Given the description of an element on the screen output the (x, y) to click on. 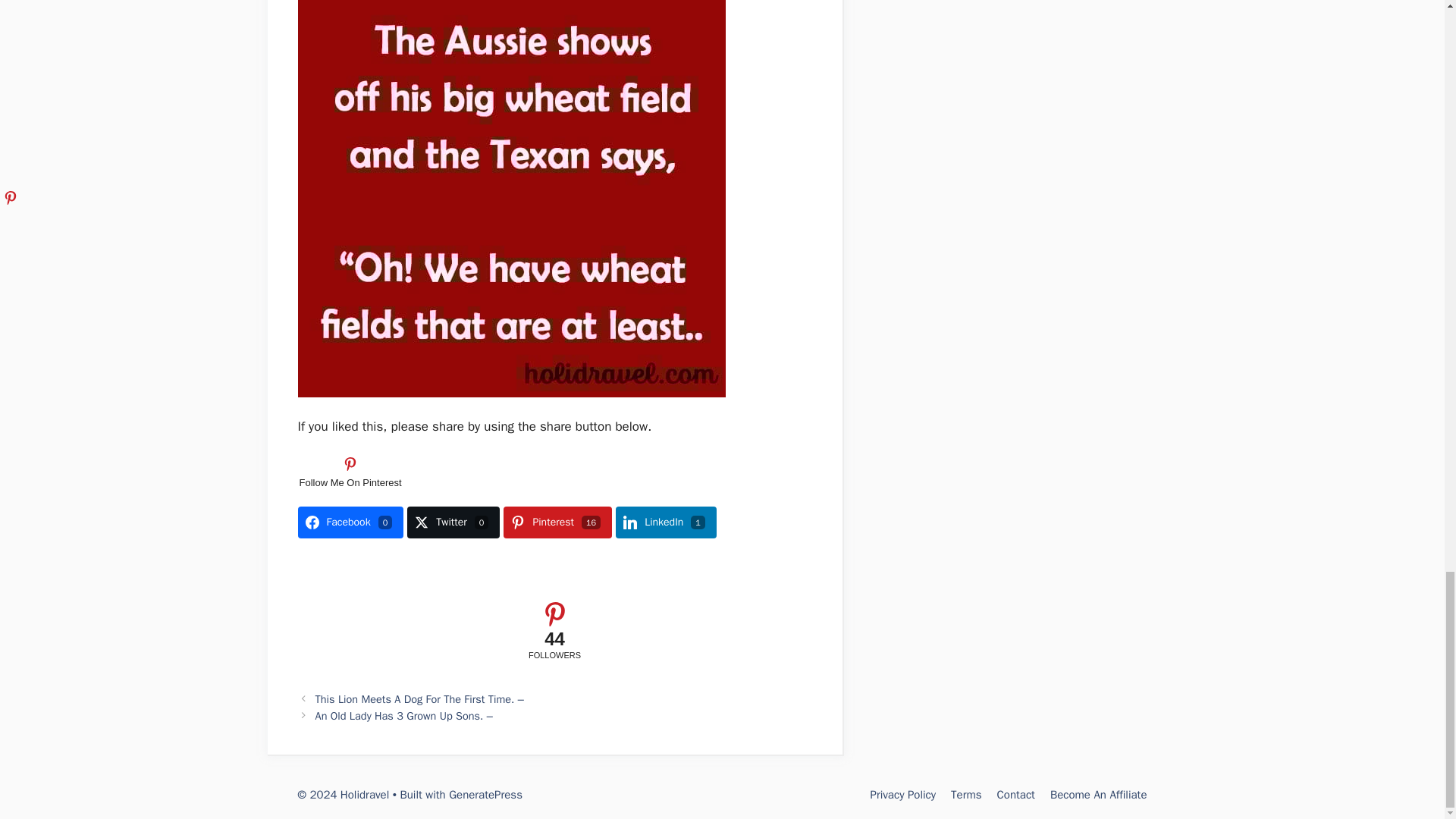
LinkedIn1 (665, 522)
Twitter0 (453, 522)
Become An Affiliate (1098, 794)
GeneratePress (485, 794)
Share on Facebook (350, 522)
Privacy Policy (902, 794)
Share on Pinterest (557, 522)
Pinterest16 (557, 522)
Contact (1016, 794)
Facebook0 (350, 522)
